Given the description of an element on the screen output the (x, y) to click on. 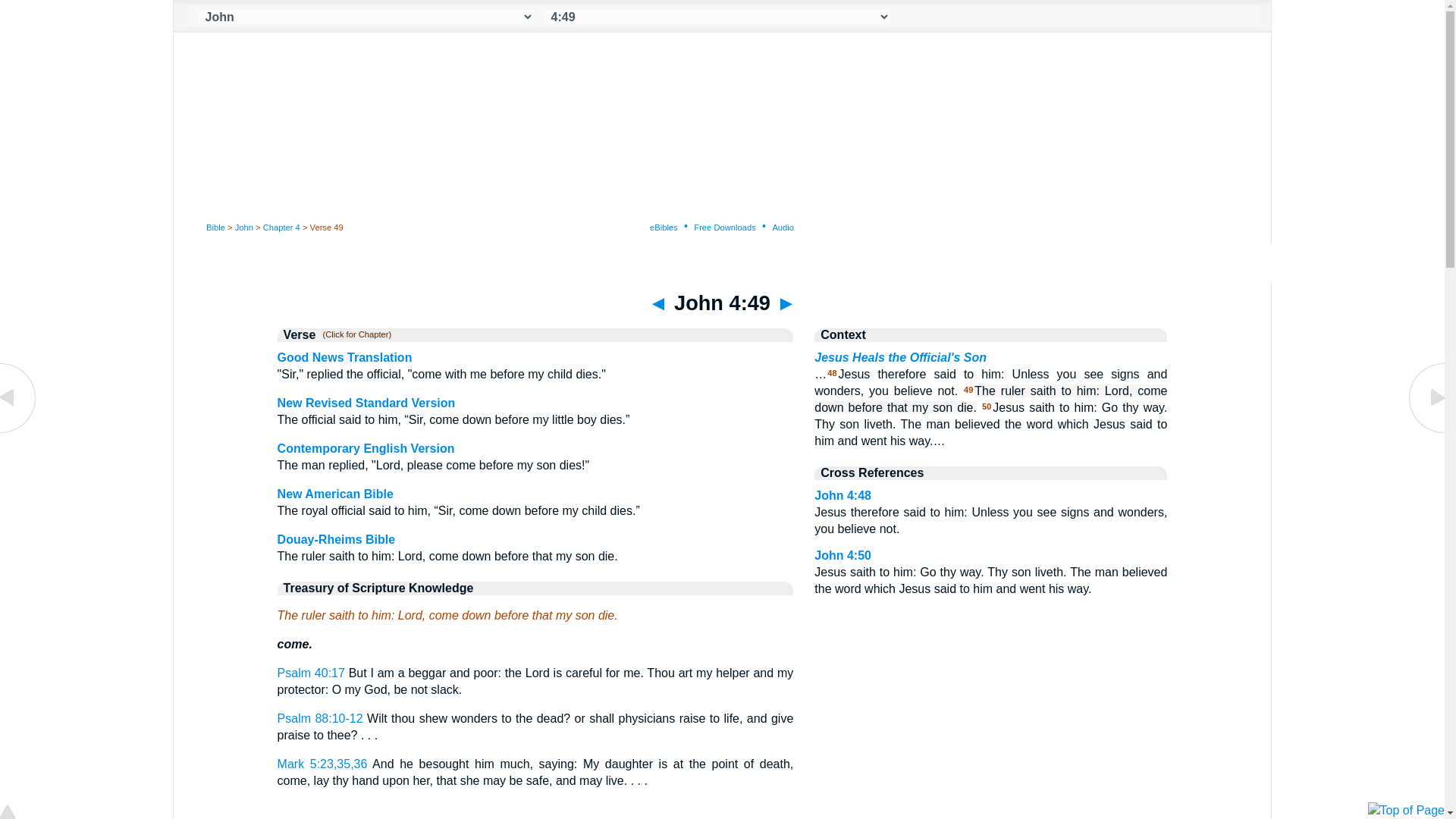
Contemporary English Version (366, 448)
Jesus Heals the Official's Son (900, 357)
Bible (215, 226)
John 4:50 (841, 554)
Douay-Rheims Bible (337, 539)
Click any translation name for full chapter (353, 335)
Psalm 40:17 (311, 672)
John 4:48 (18, 431)
New American Bible (335, 493)
Mark 5:23,35,36 (323, 763)
John (243, 226)
Top of Page (18, 813)
Psalm 88:10-12 (320, 717)
New Revised Standard Version (366, 402)
Chapter 4 (281, 226)
